Given the description of an element on the screen output the (x, y) to click on. 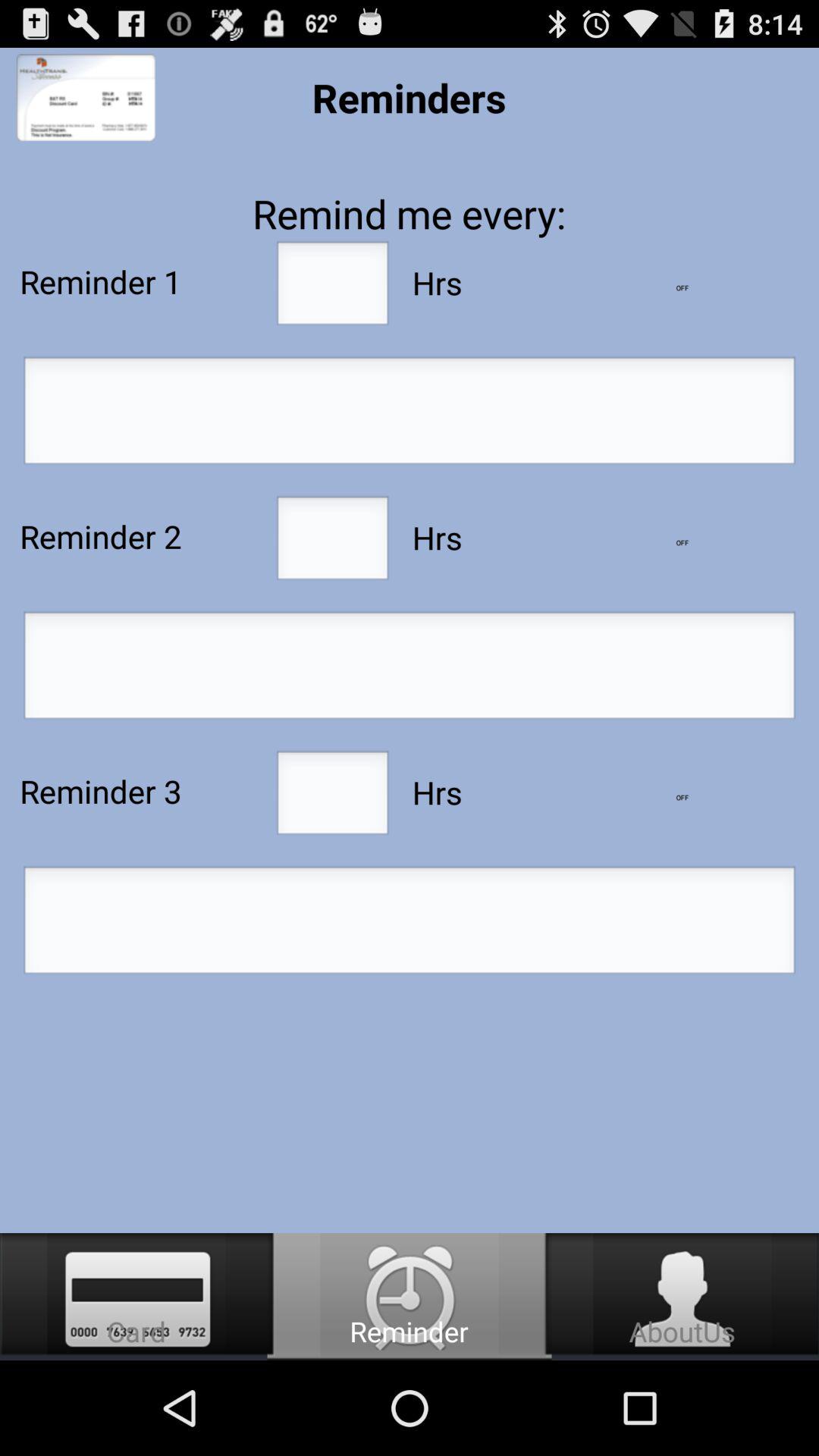
enter text for reminder (409, 669)
